Given the description of an element on the screen output the (x, y) to click on. 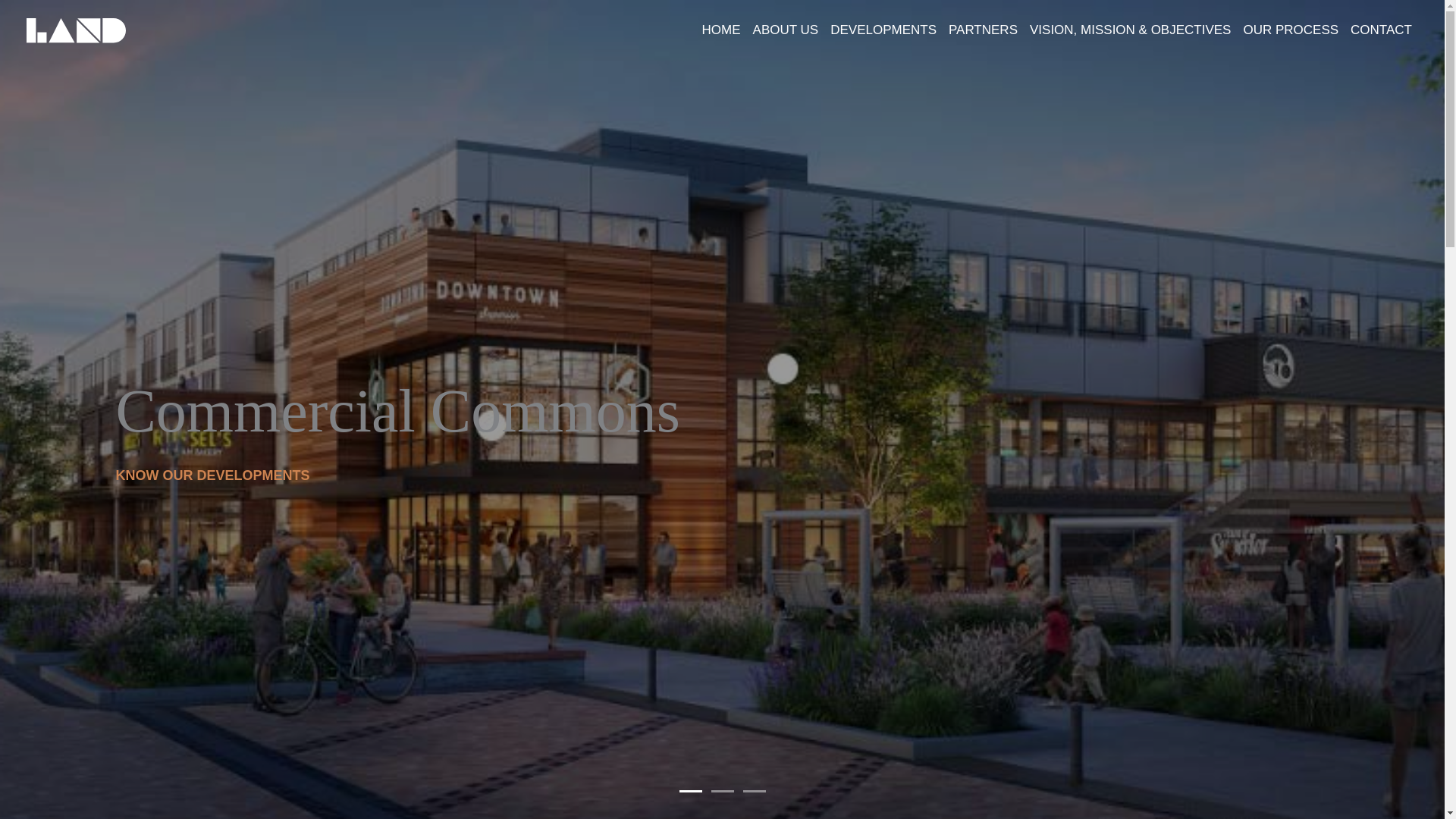
KNOW OUR DEVELOPMENTS (211, 475)
PARTNERS (982, 30)
CONTACT (1380, 30)
HOME (720, 30)
OUR PROCESS (1289, 30)
DEVELOPMENTS (883, 30)
ABOUT US (785, 30)
